Given the description of an element on the screen output the (x, y) to click on. 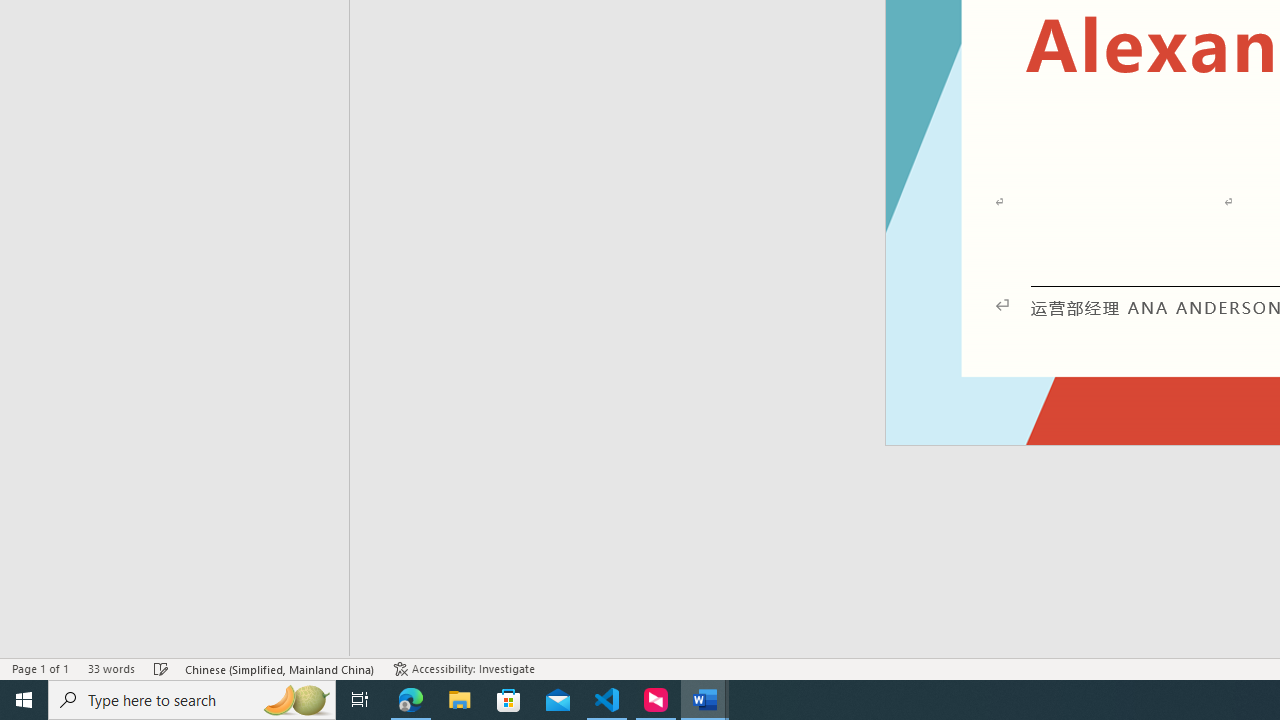
Accessibility Checker Accessibility: Investigate (464, 668)
Page Number Page 1 of 1 (39, 668)
Spelling and Grammar Check Checking (161, 668)
Language Chinese (Simplified, Mainland China) (279, 668)
